Given the description of an element on the screen output the (x, y) to click on. 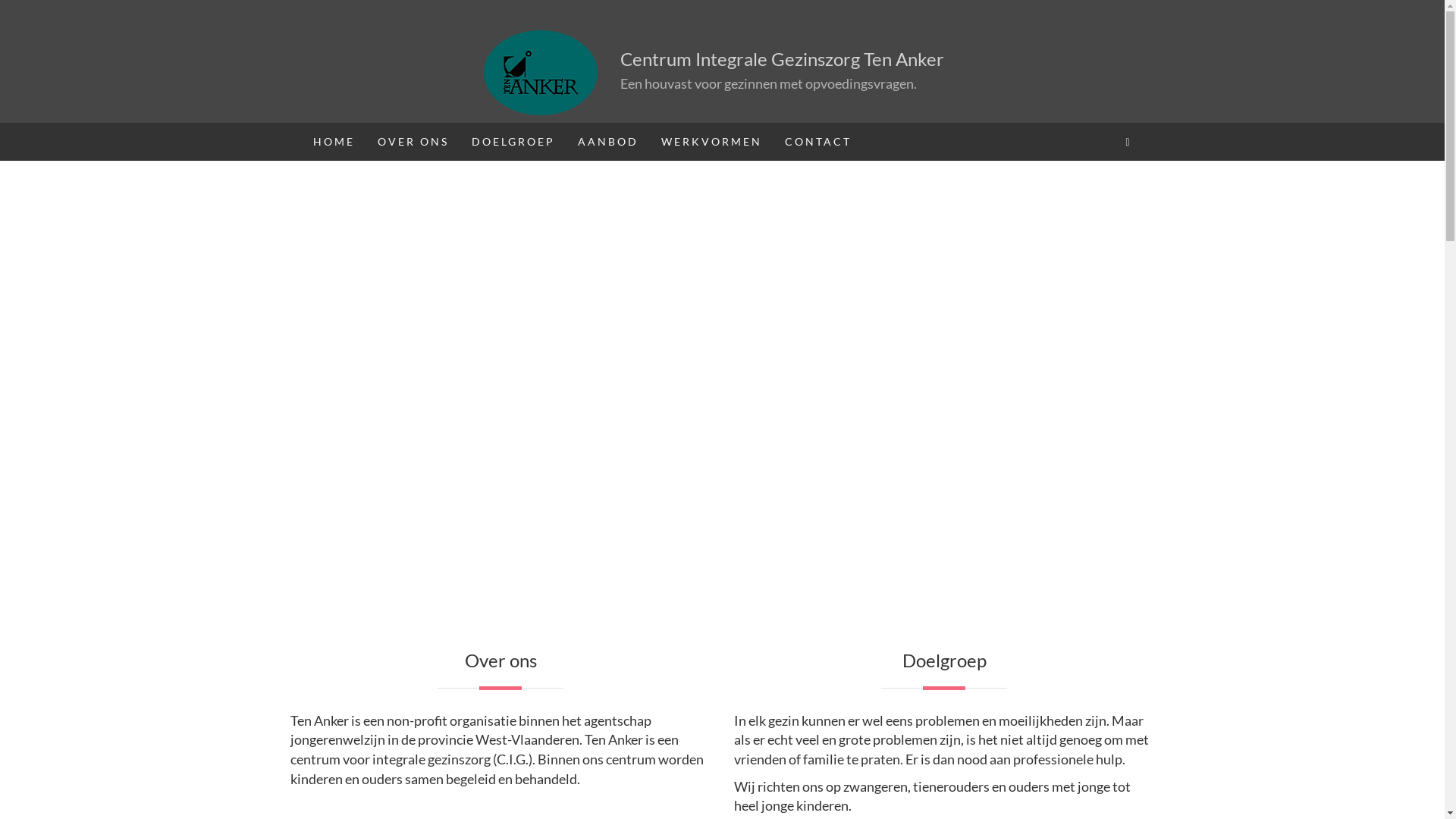
OVER ONS Element type: text (412, 141)
DOELGROEP Element type: text (512, 141)
Facebook Element type: hover (1127, 141)
WERKVORMEN Element type: text (710, 141)
HOME Element type: text (333, 141)
CONTACT Element type: text (817, 141)
AANBOD Element type: text (607, 141)
